Given the description of an element on the screen output the (x, y) to click on. 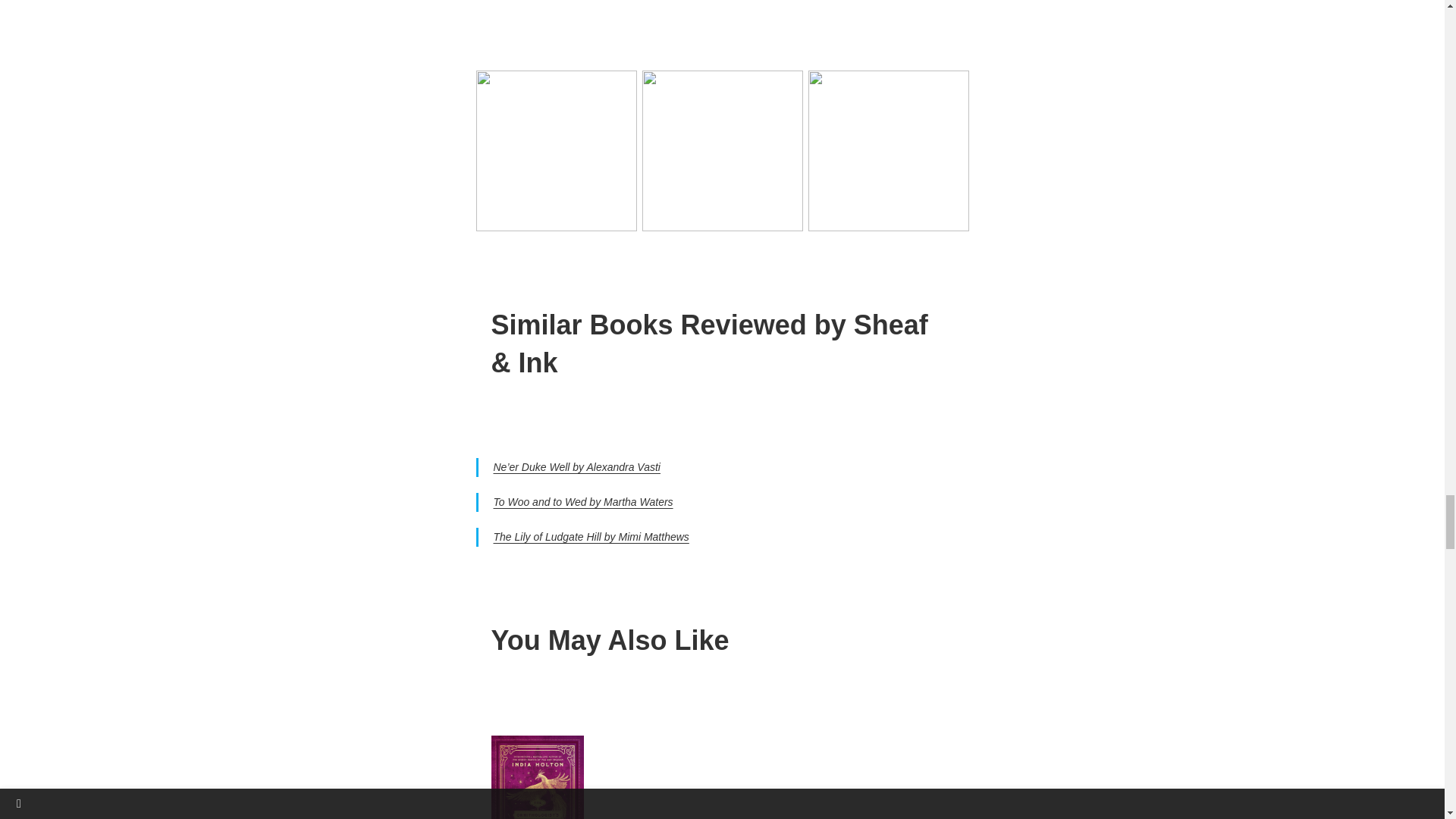
The Lily of Ludgate Hill by Mimi Matthews (590, 536)
To Woo and to Wed by Martha Waters (582, 501)
The Ornithologist's Field Guide to Love (537, 777)
